Given the description of an element on the screen output the (x, y) to click on. 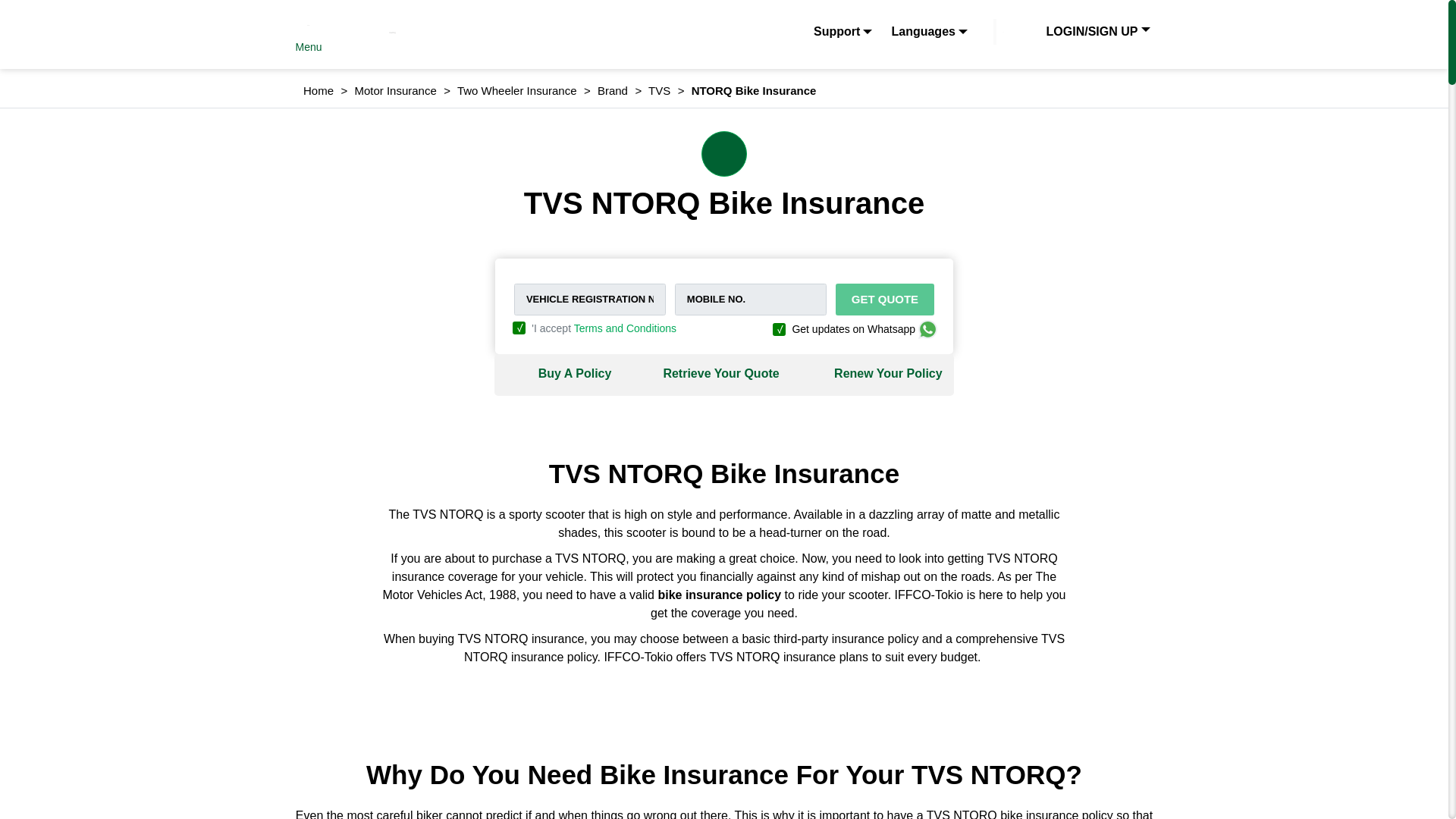
Support (842, 31)
Languages (928, 31)
Bike Insurance Policy (719, 594)
